Given the description of an element on the screen output the (x, y) to click on. 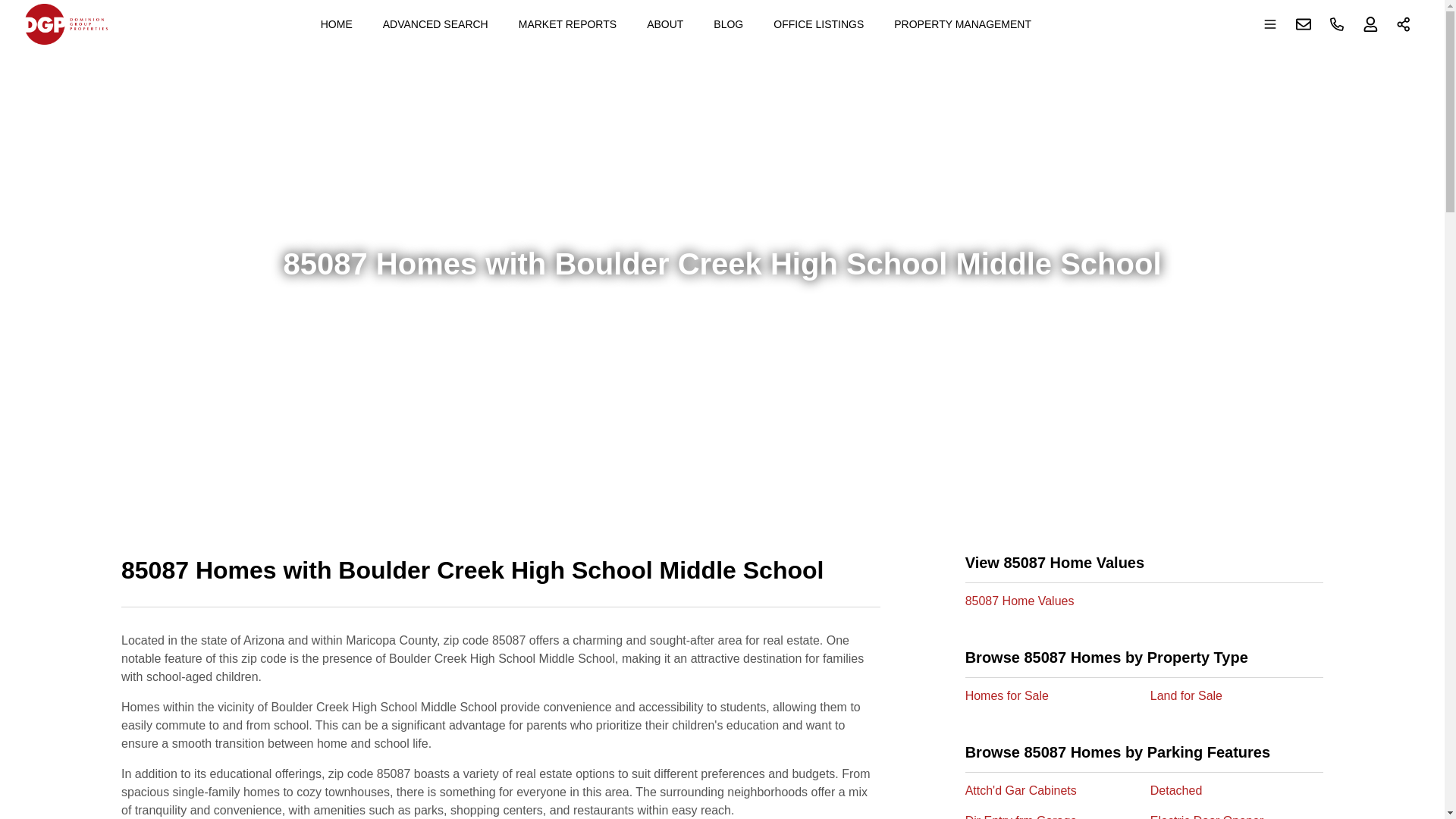
Sign up or Sign in (1370, 23)
BLOG (728, 24)
85087 Homes with Boulder Creek High School Middle School (500, 579)
ADVANCED SEARCH (435, 24)
Phone number (1337, 23)
Share (1404, 23)
ABOUT (665, 24)
PROPERTY MANAGEMENT (963, 24)
MARKET REPORTS (567, 24)
Open main menu (1270, 23)
HOME (336, 24)
OFFICE LISTINGS (818, 24)
Dgpaz.com (65, 24)
Contact us (1303, 23)
